Given the description of an element on the screen output the (x, y) to click on. 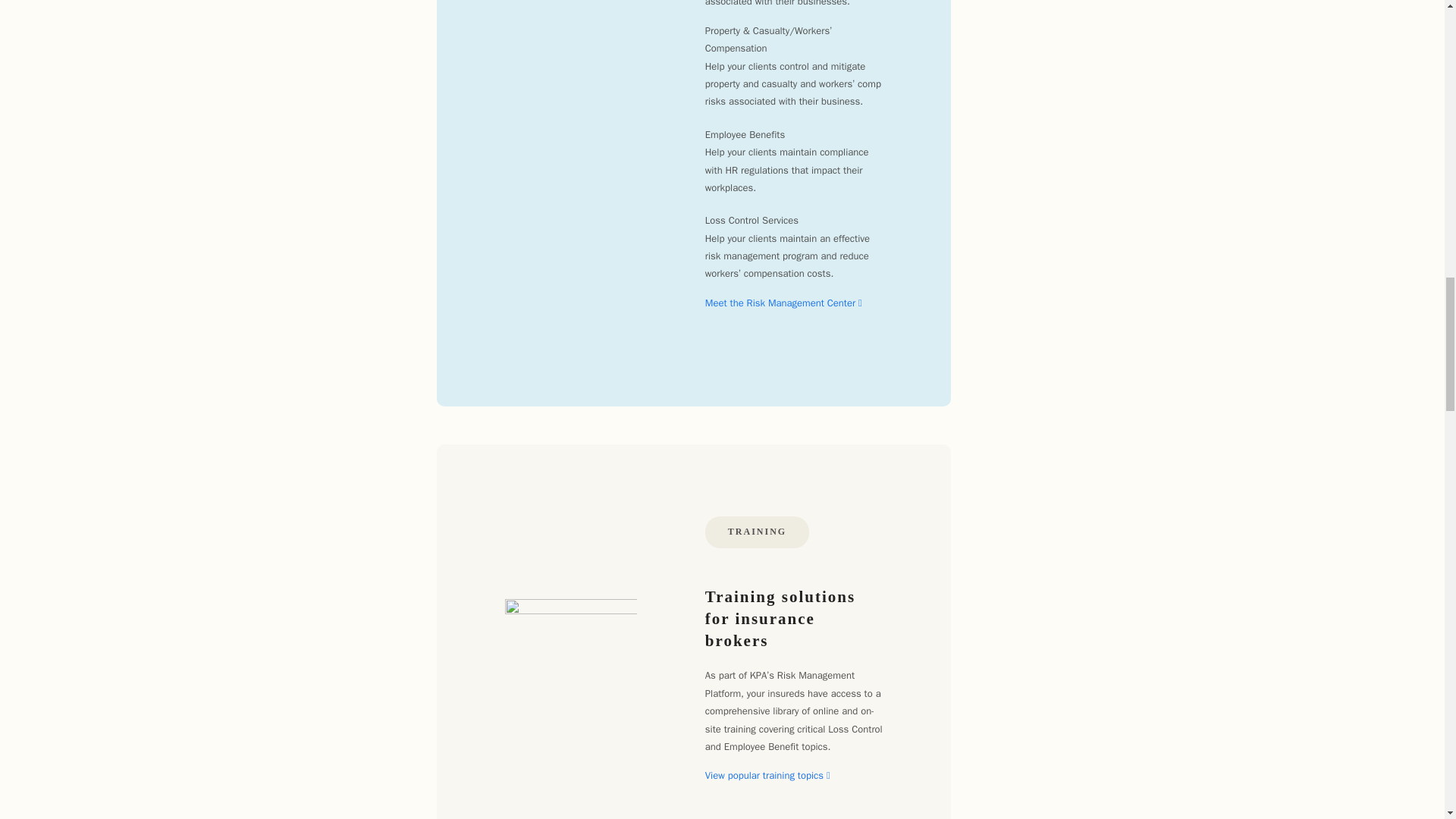
co - industry insurance training topics (571, 642)
co - industry insurance rmc software (571, 31)
